Given the description of an element on the screen output the (x, y) to click on. 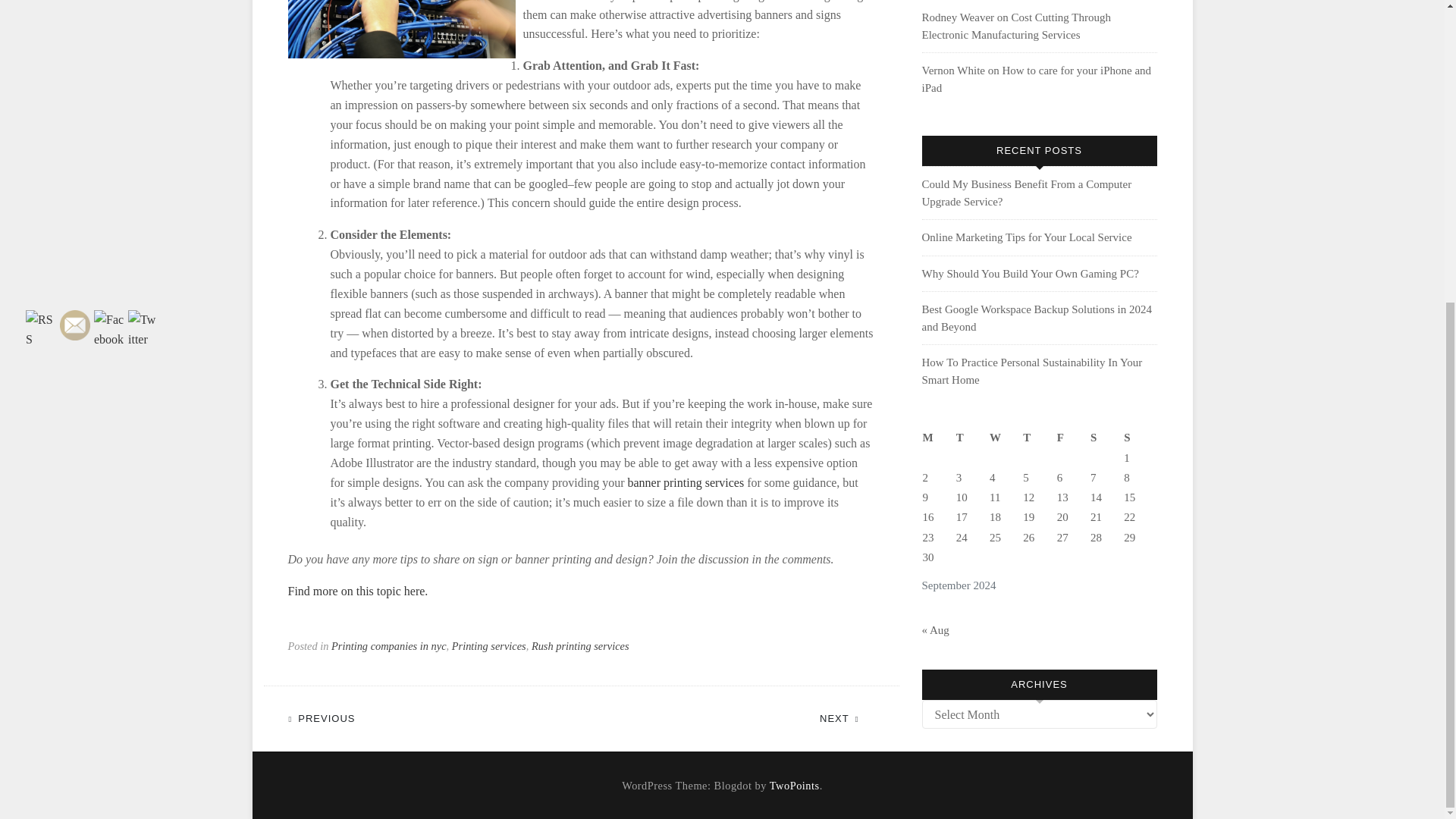
How to care for your iPhone and iPad (1036, 79)
Wednesday (1005, 437)
Printing companies in nyc (388, 645)
banner printing services (685, 481)
Tuesday (971, 437)
Find more on this topic here. (358, 590)
Commercial printing, Banner printing services (685, 481)
Thursday (1038, 437)
Floor graphics advertising, Window displays nyc (358, 590)
Follow by Email (74, 325)
